Given the description of an element on the screen output the (x, y) to click on. 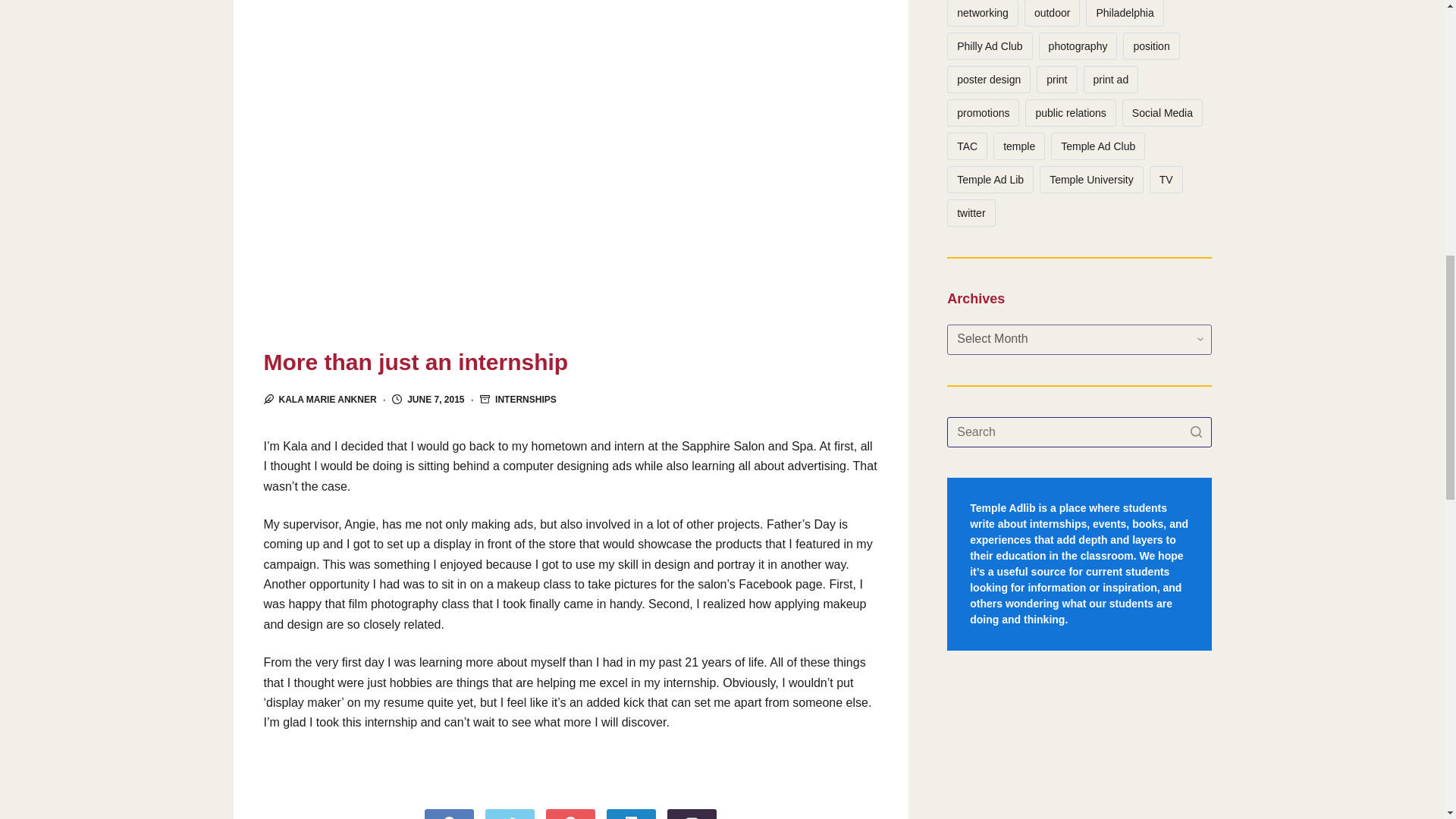
Search for... (1079, 431)
Posts by Kala Marie Ankner (328, 398)
More than just an internship (570, 361)
INTERNSHIPS (525, 398)
KALA MARIE ANKNER (328, 398)
